Given the description of an element on the screen output the (x, y) to click on. 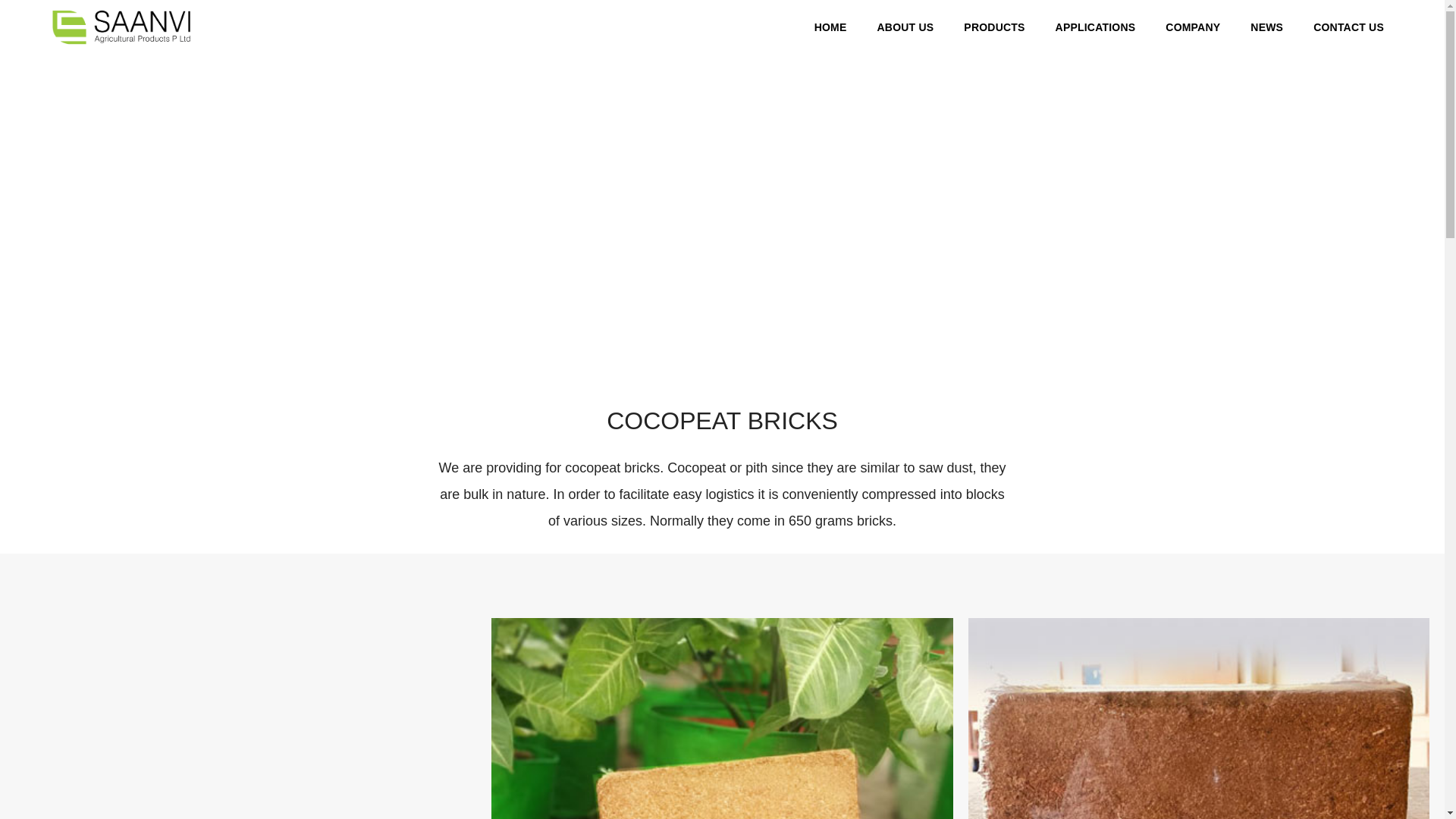
HOME (830, 27)
PRODUCTS (994, 27)
COMPANY (1193, 27)
NEWS (1266, 27)
CONTACT US (1348, 27)
ABOUT US (905, 27)
APPLICATIONS (1095, 27)
